Given the description of an element on the screen output the (x, y) to click on. 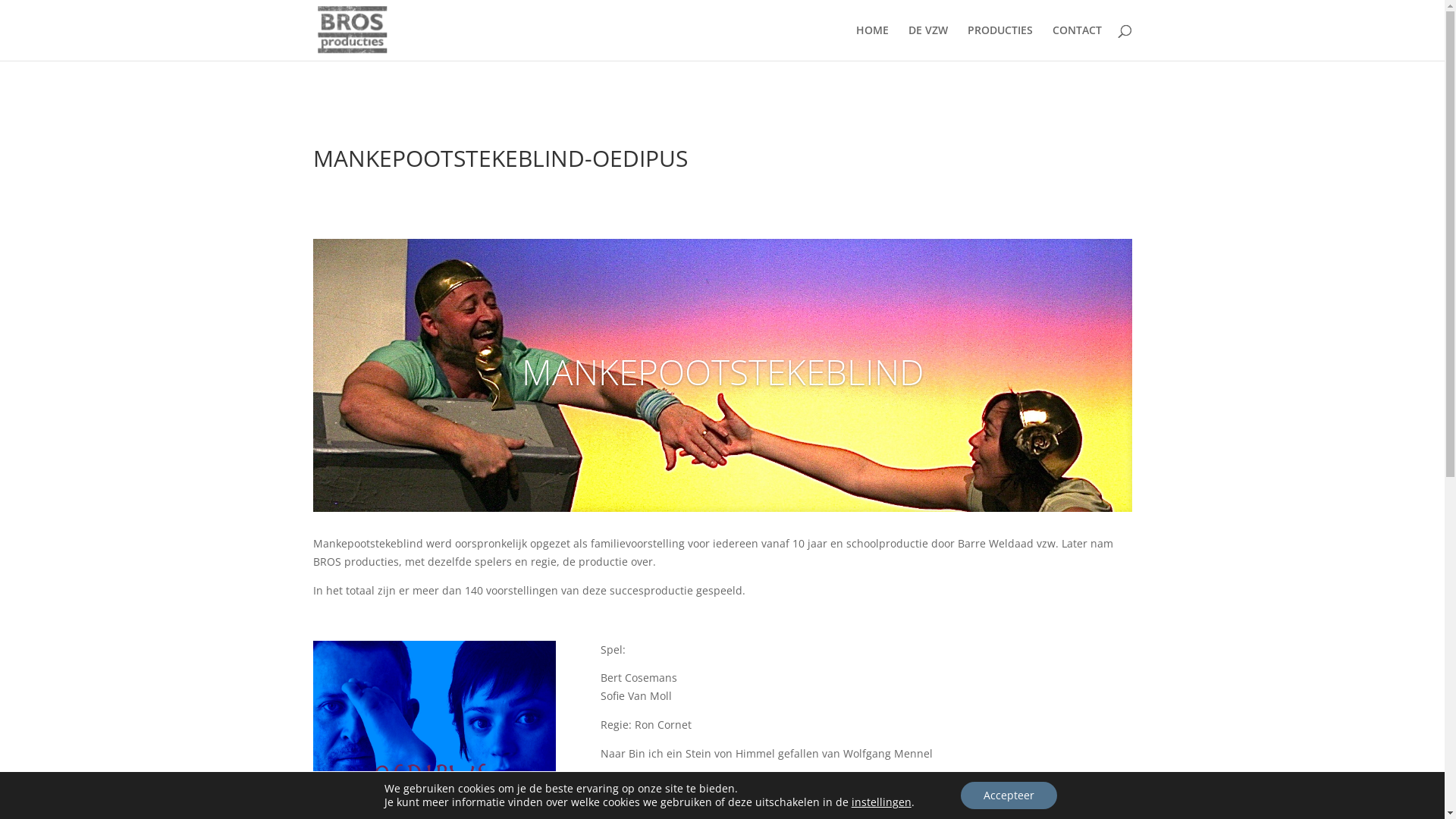
instellingen Element type: text (881, 802)
HOME Element type: text (871, 42)
CONTACT Element type: text (1076, 42)
Accepteer Element type: text (1008, 795)
PRODUCTIES Element type: text (999, 42)
DE VZW Element type: text (927, 42)
